Given the description of an element on the screen output the (x, y) to click on. 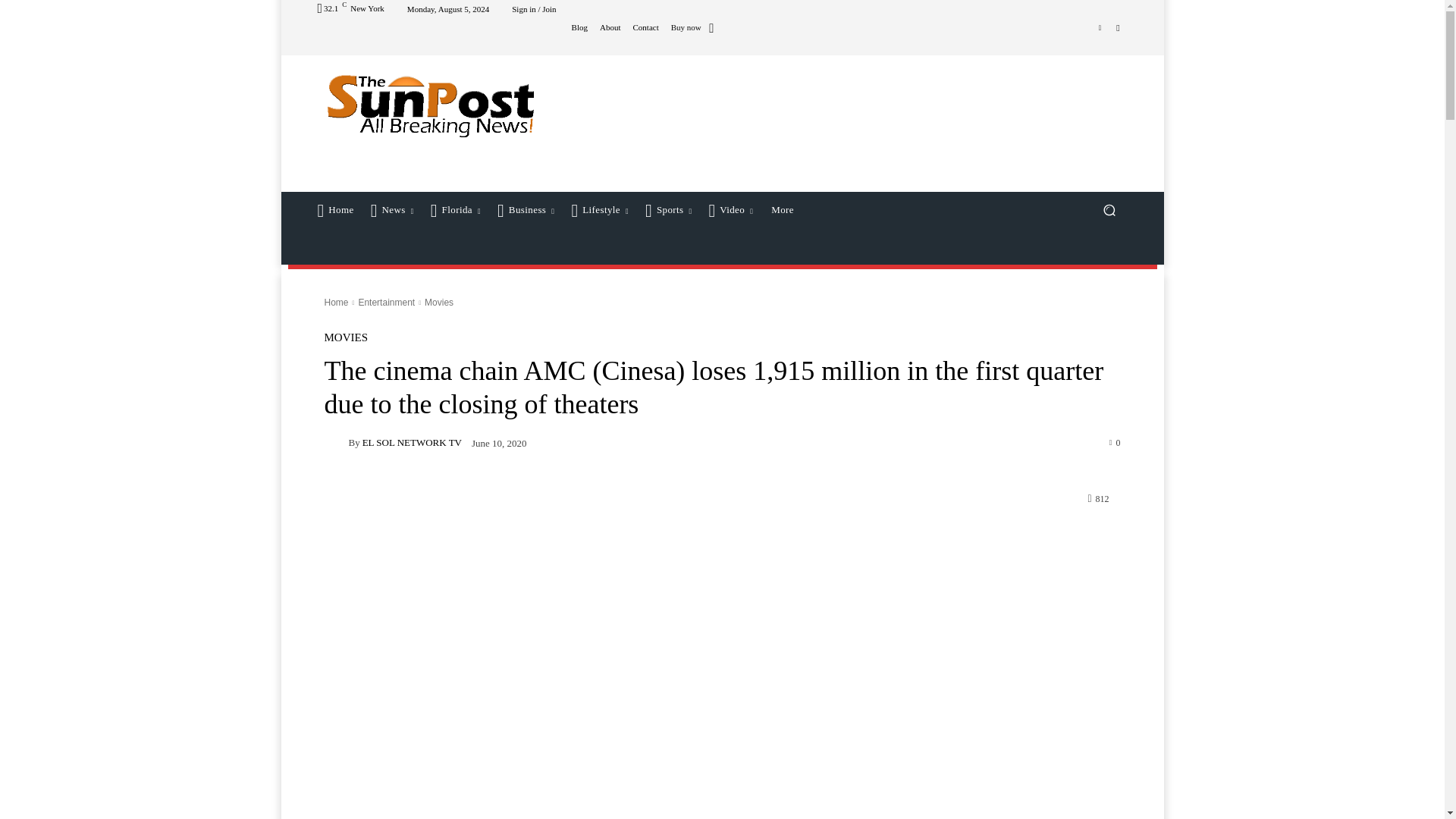
About (610, 27)
Youtube (1117, 27)
Contact (646, 27)
Blog (580, 27)
Vimeo (1099, 27)
